Given the description of an element on the screen output the (x, y) to click on. 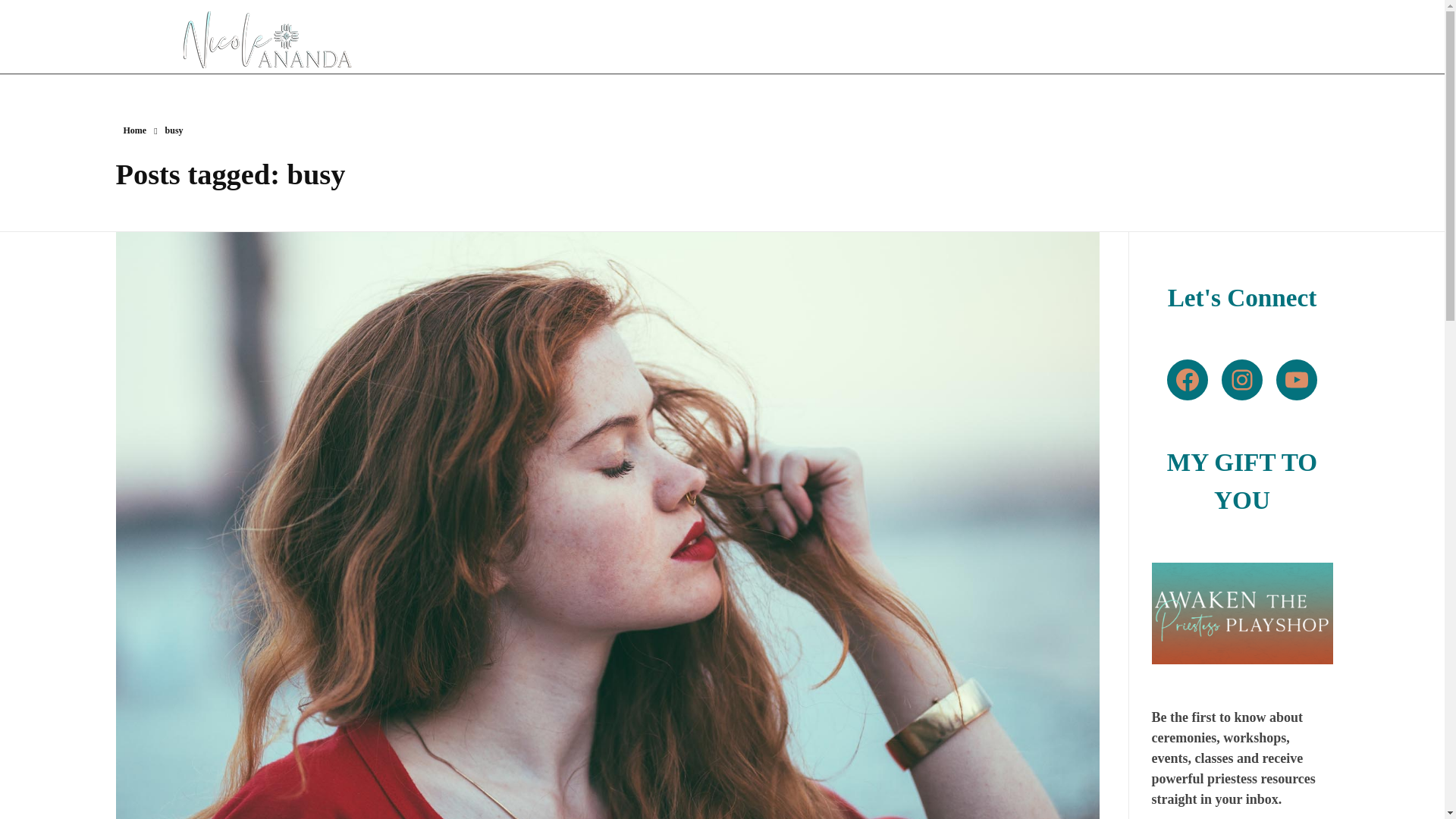
Nicole Doherty Ananda (267, 39)
Home (134, 130)
Nicole Doherty Ananda (214, 76)
Home (134, 130)
Nicole Doherty Ananda (214, 76)
